Given the description of an element on the screen output the (x, y) to click on. 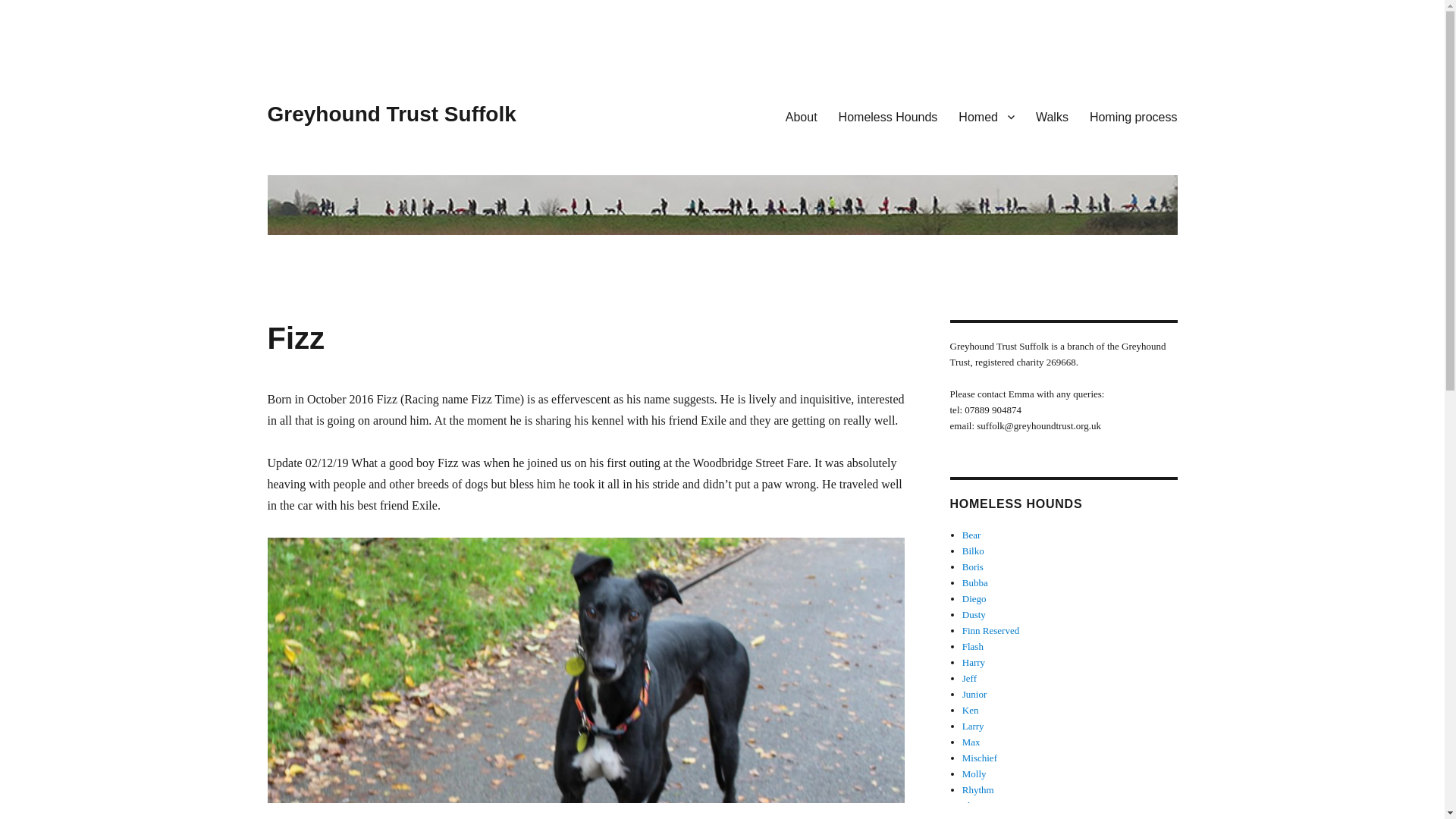
Rhythm (978, 789)
Jeff (969, 677)
Bilko (973, 550)
Bear (971, 534)
Homed (986, 116)
Bubba (975, 582)
Molly (974, 773)
Boris (973, 566)
Ken (970, 709)
Mischief (979, 757)
Homeless Hounds (888, 116)
Diego (974, 598)
Sparky (976, 817)
Homing process (1133, 116)
Larry (973, 726)
